Given the description of an element on the screen output the (x, y) to click on. 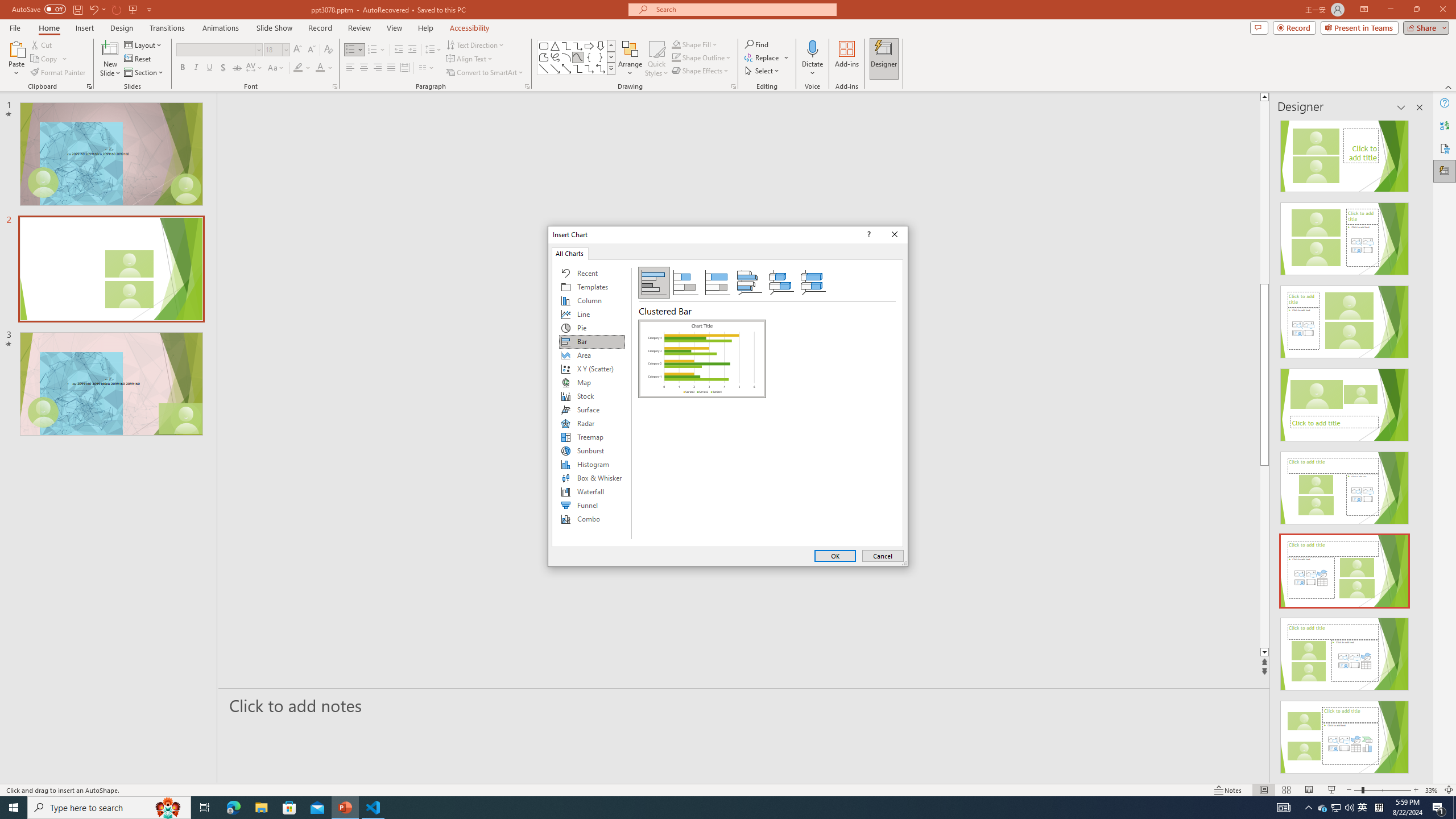
Shape Outline Green, Accent 1 (675, 56)
Convert to SmartArt (485, 72)
Font Color Red (320, 67)
OK (834, 555)
Decrease Font Size (310, 49)
Zoom 33% (1431, 790)
